Given the description of an element on the screen output the (x, y) to click on. 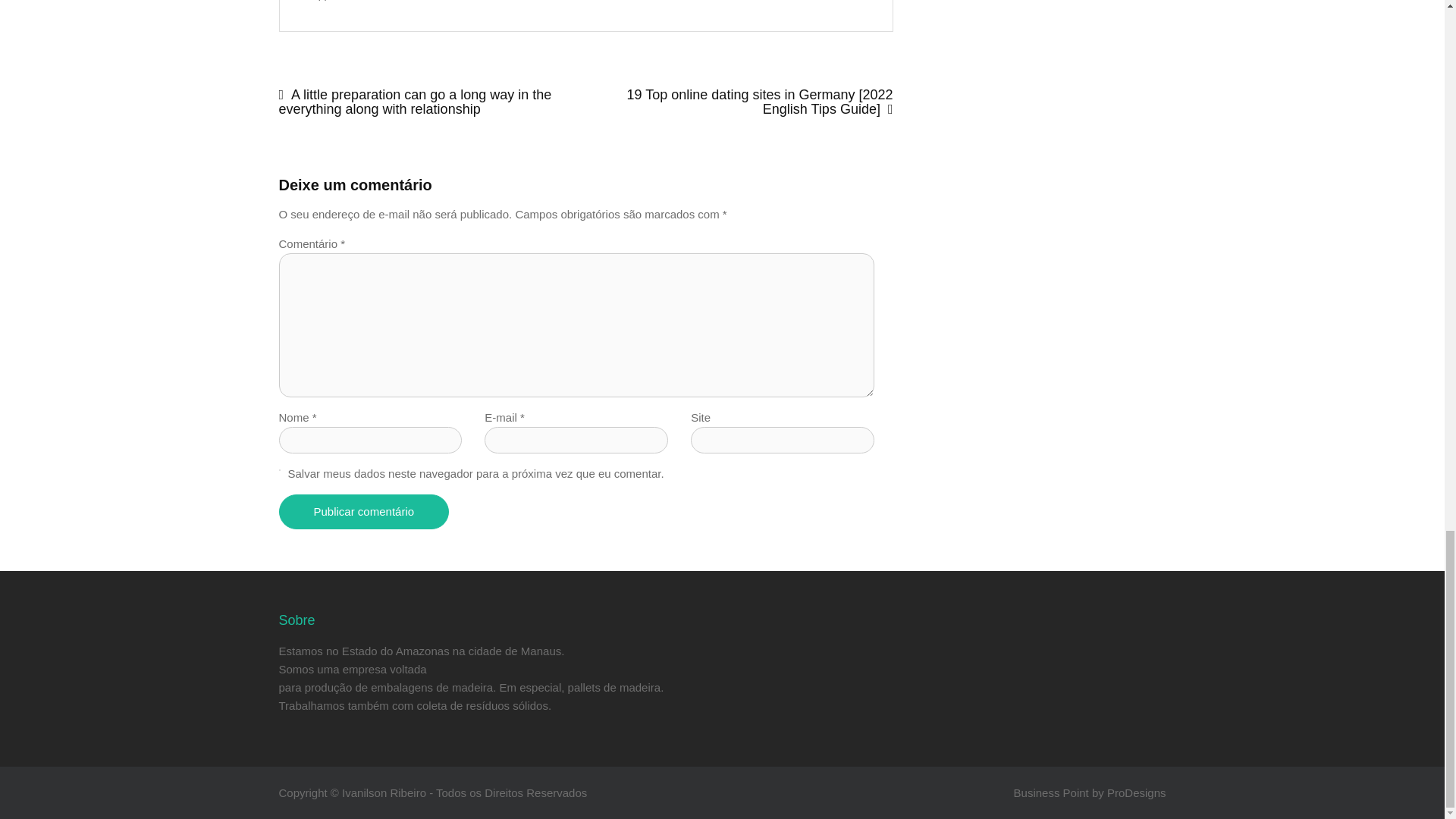
ProDesigns (1136, 792)
